Given the description of an element on the screen output the (x, y) to click on. 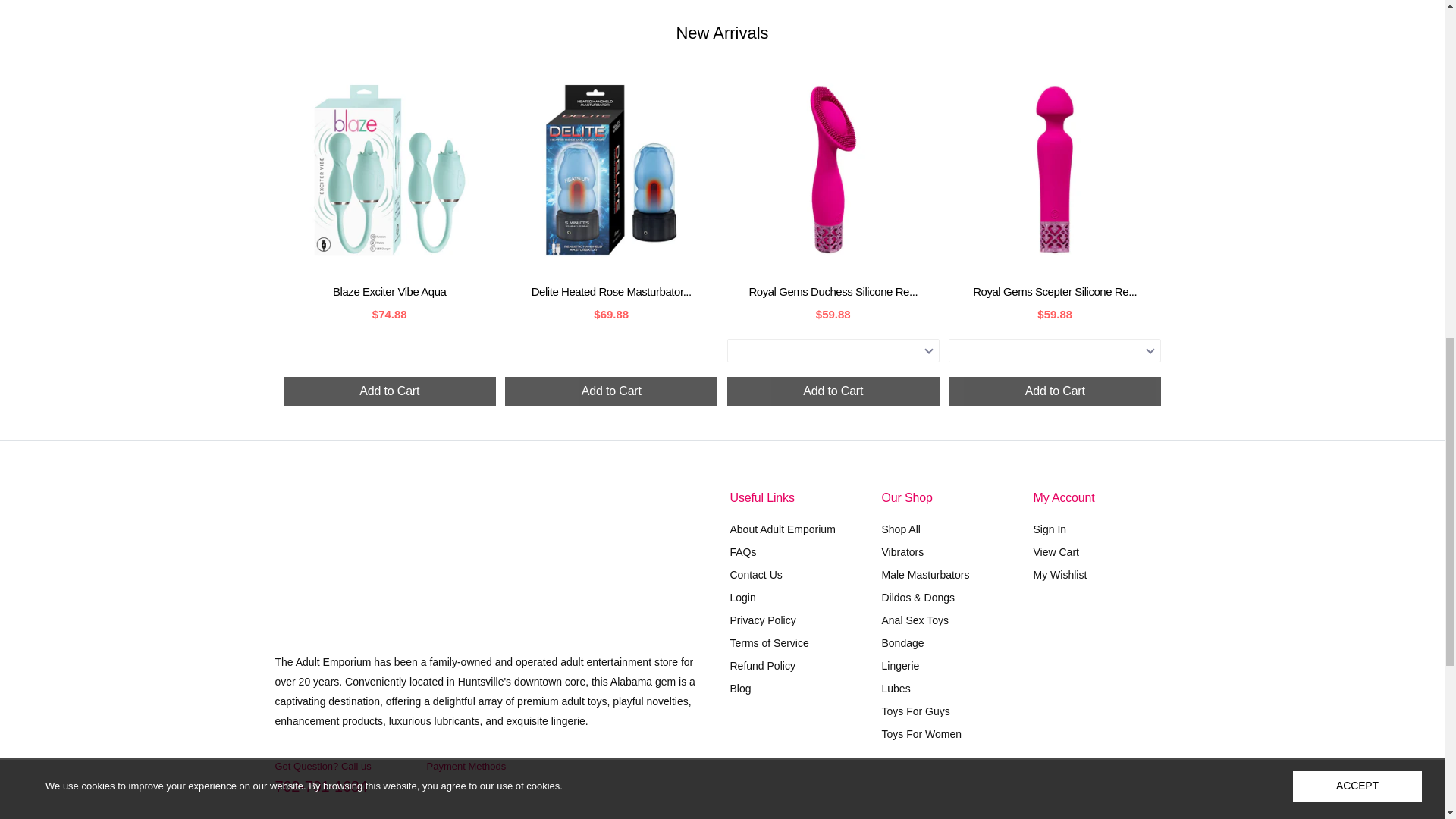
1 (987, 779)
